Given the description of an element on the screen output the (x, y) to click on. 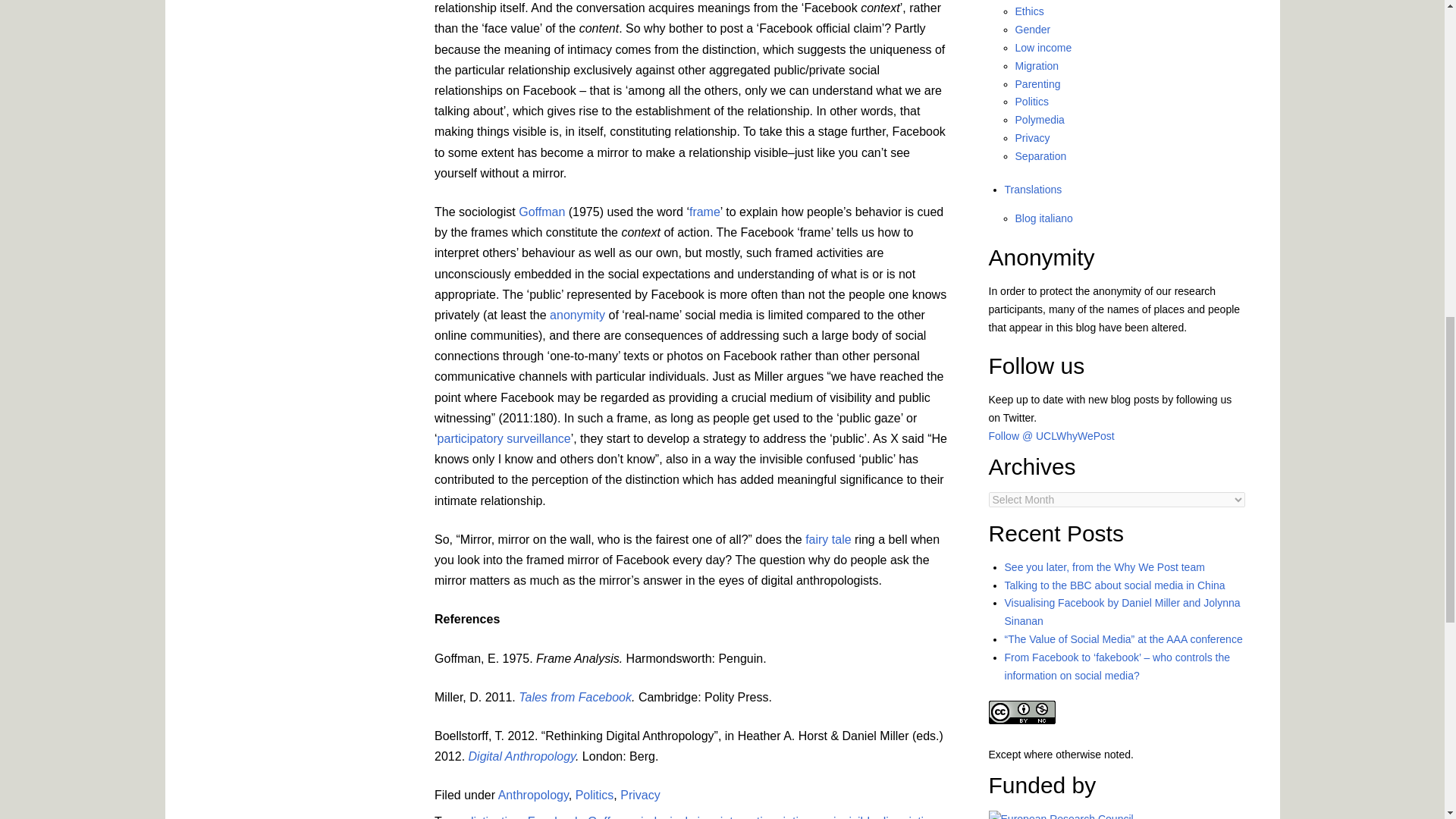
Goffman (541, 211)
indexical sign (676, 816)
fairy tale (826, 539)
Goffman (610, 816)
frame (704, 211)
Tales from Facebook (574, 697)
Digital Anthropology (521, 756)
anonymity (577, 314)
distinction (494, 816)
participatory surveillance (504, 438)
Politics (594, 794)
interaction (748, 816)
Privacy (639, 794)
Anthropology (533, 794)
Facebook (553, 816)
